Given the description of an element on the screen output the (x, y) to click on. 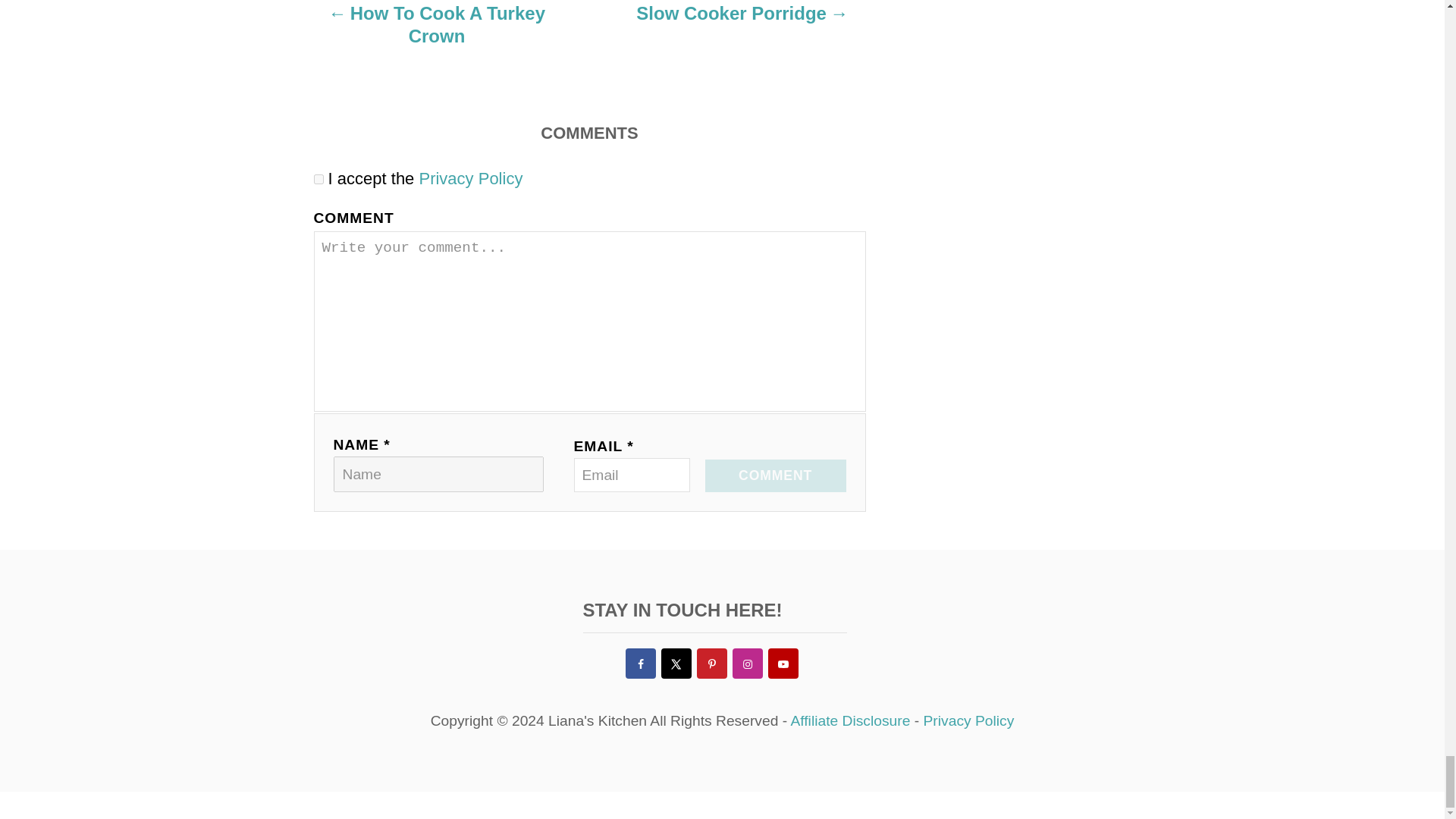
1 (318, 179)
